Given the description of an element on the screen output the (x, y) to click on. 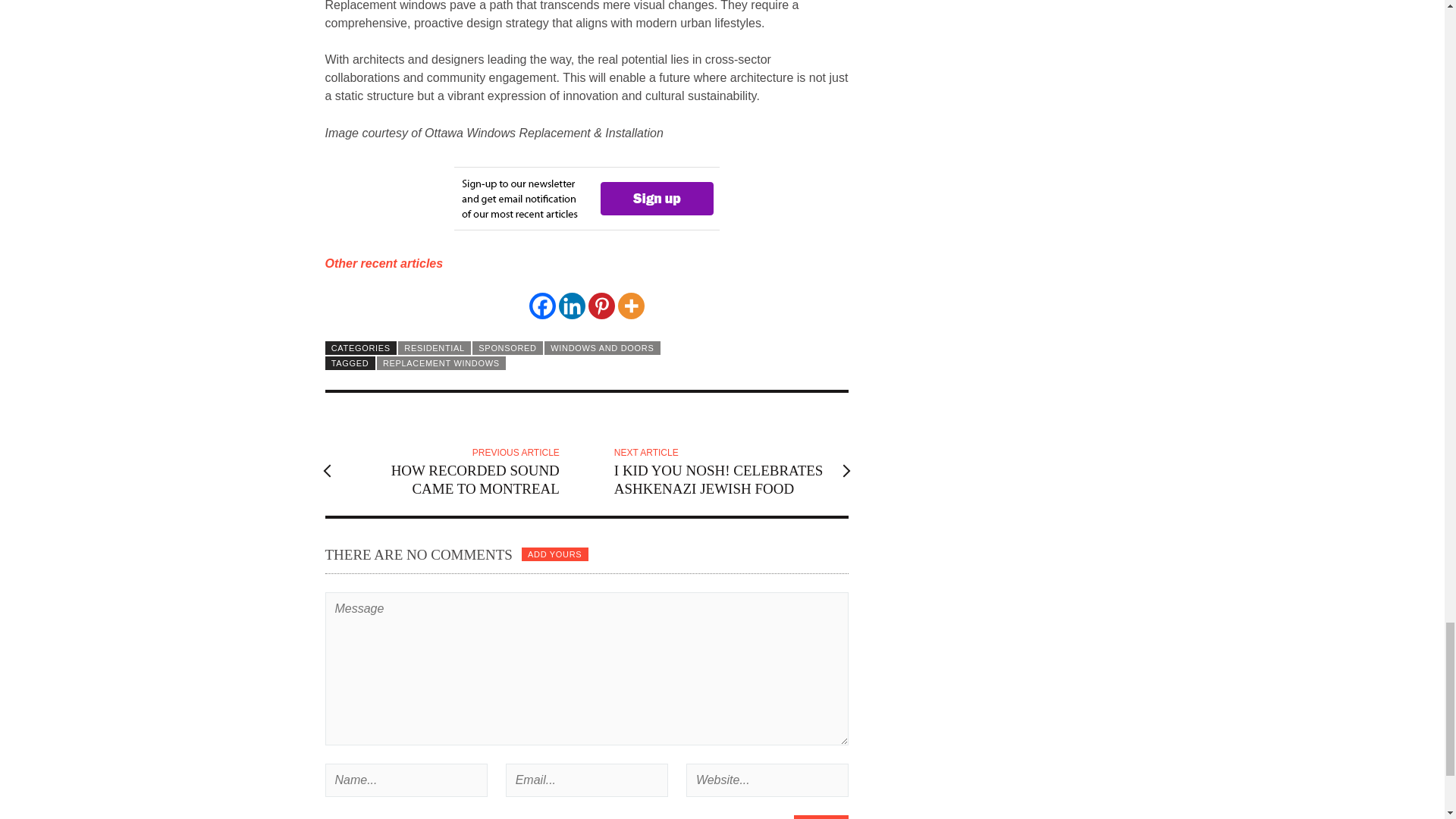
View all posts in sponsored (507, 347)
View all posts in Residential (433, 347)
Send (820, 816)
More (631, 305)
Pinterest (601, 305)
Facebook (542, 305)
Linkedin (572, 305)
